Given the description of an element on the screen output the (x, y) to click on. 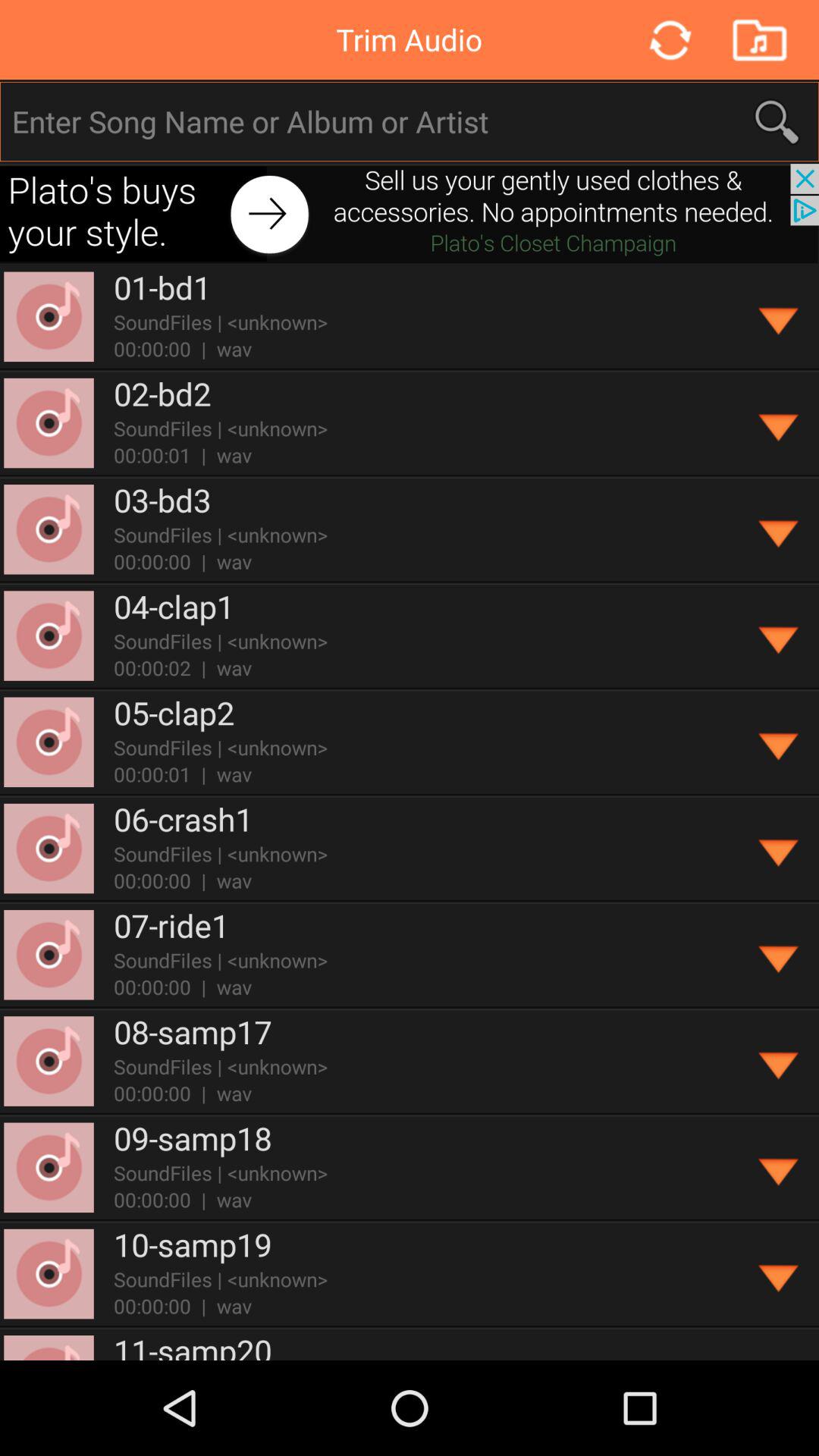
search function (409, 121)
